Given the description of an element on the screen output the (x, y) to click on. 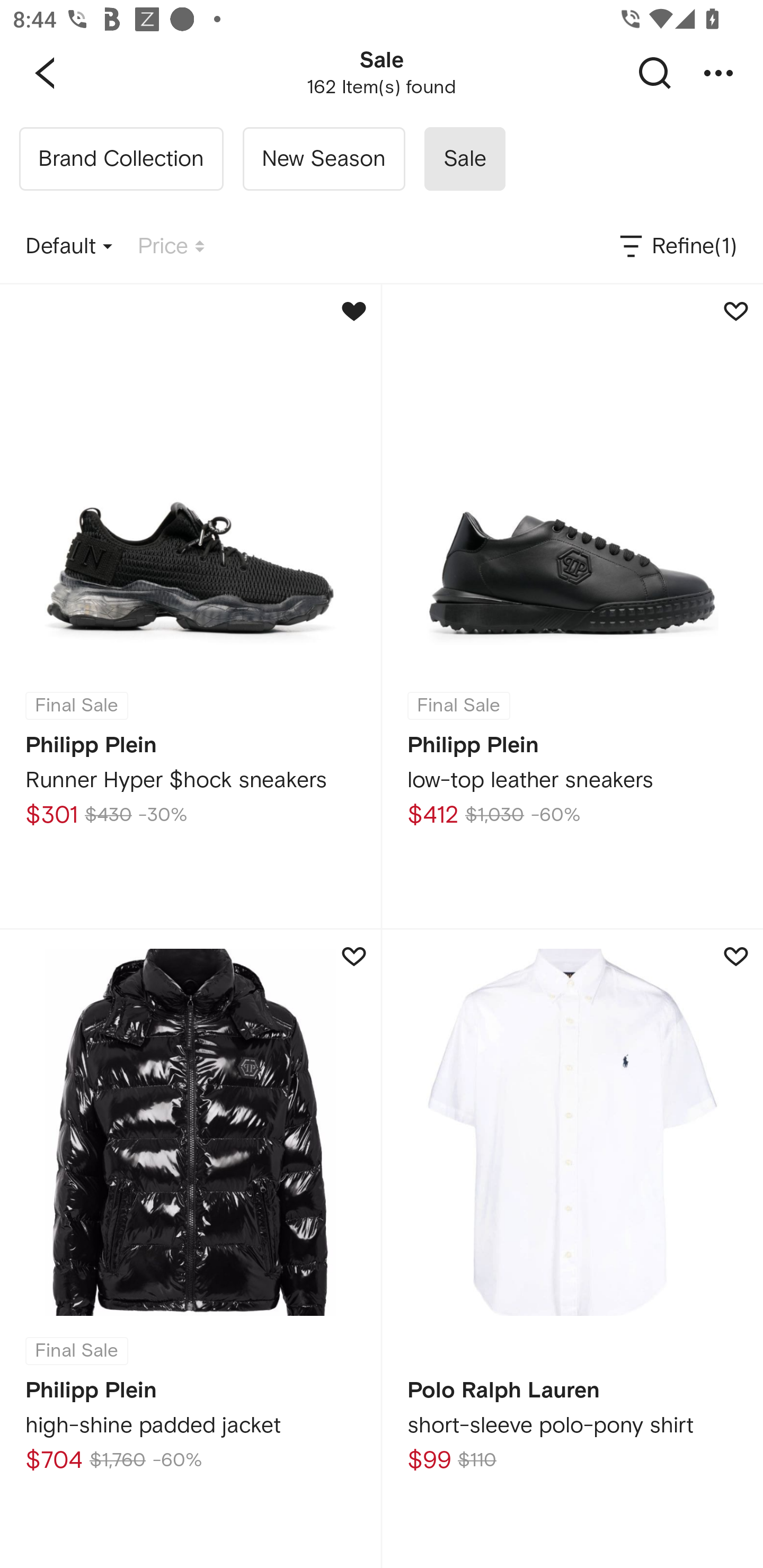
Brand Collection (121, 158)
New Season (323, 158)
Sale (464, 158)
Default (68, 246)
Price (171, 246)
Refine(1) (677, 246)
